Given the description of an element on the screen output the (x, y) to click on. 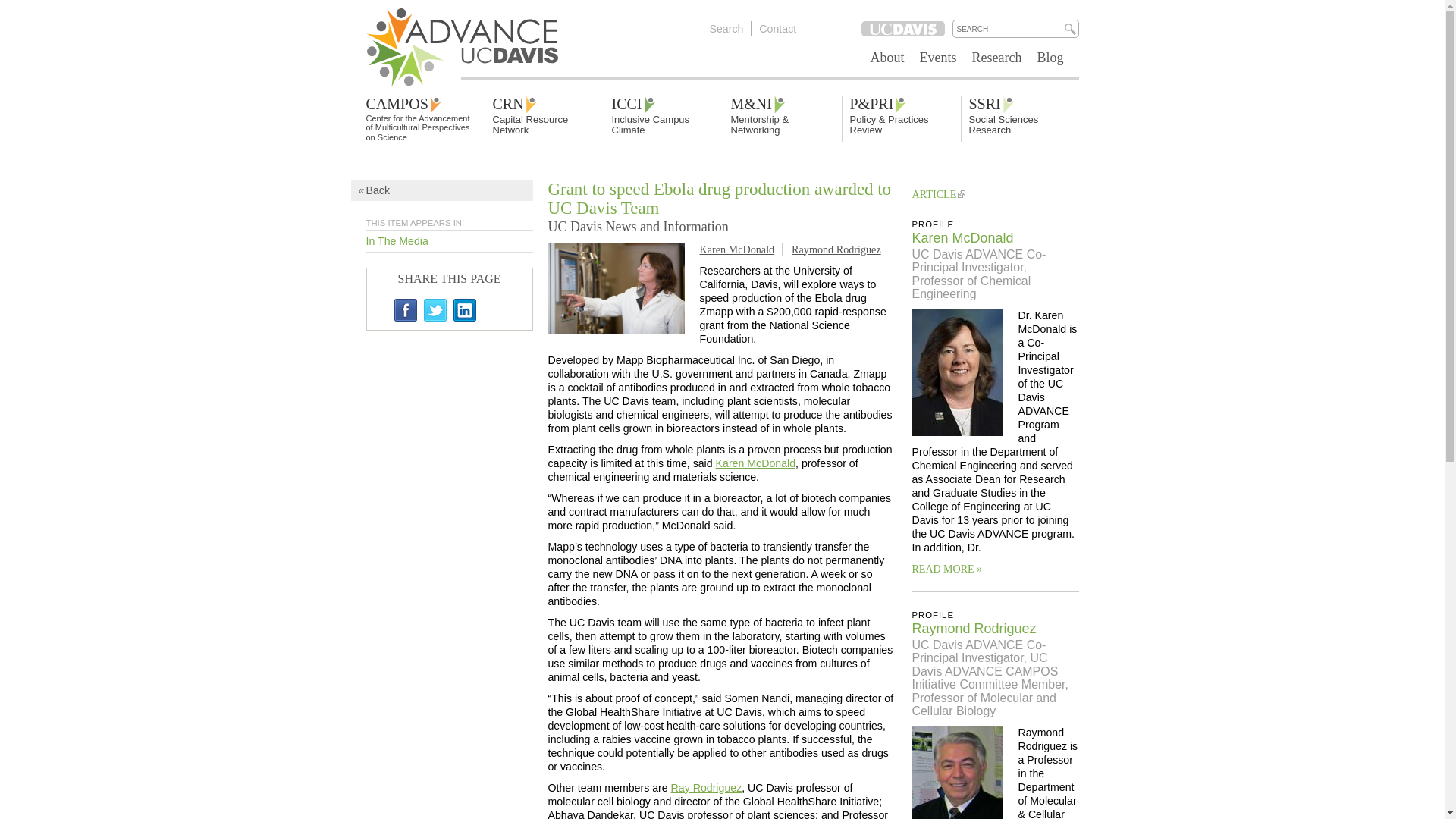
About           (887, 56)
UC Davis ADVANCE home page (466, 50)
Contact (777, 28)
Events (937, 56)
Search keywords (1007, 28)
Search (727, 28)
Research (996, 56)
Contact (777, 28)
UCDavis (903, 28)
Search (727, 28)
About (887, 56)
